Given the description of an element on the screen output the (x, y) to click on. 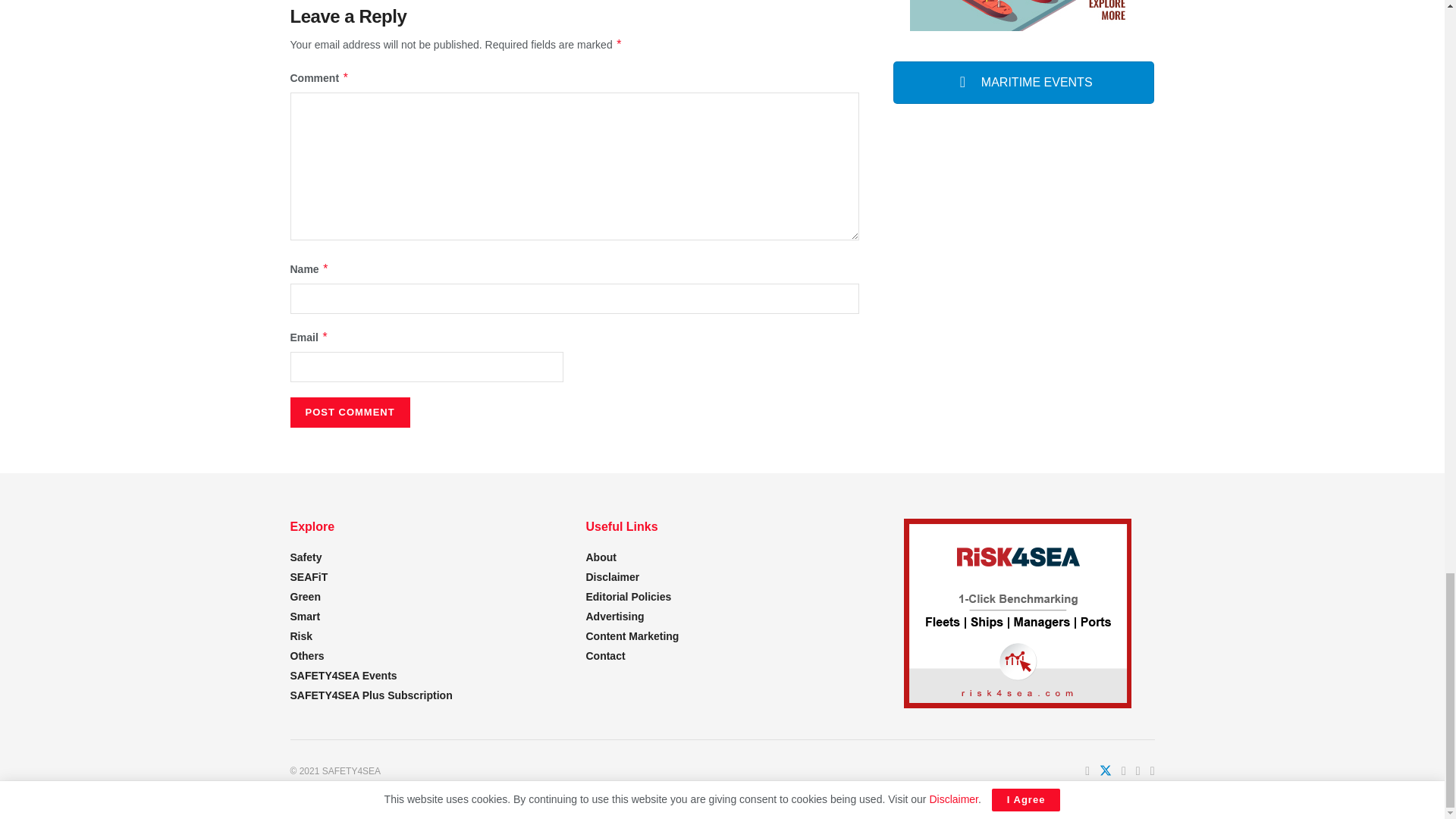
Post Comment (349, 412)
